Given the description of an element on the screen output the (x, y) to click on. 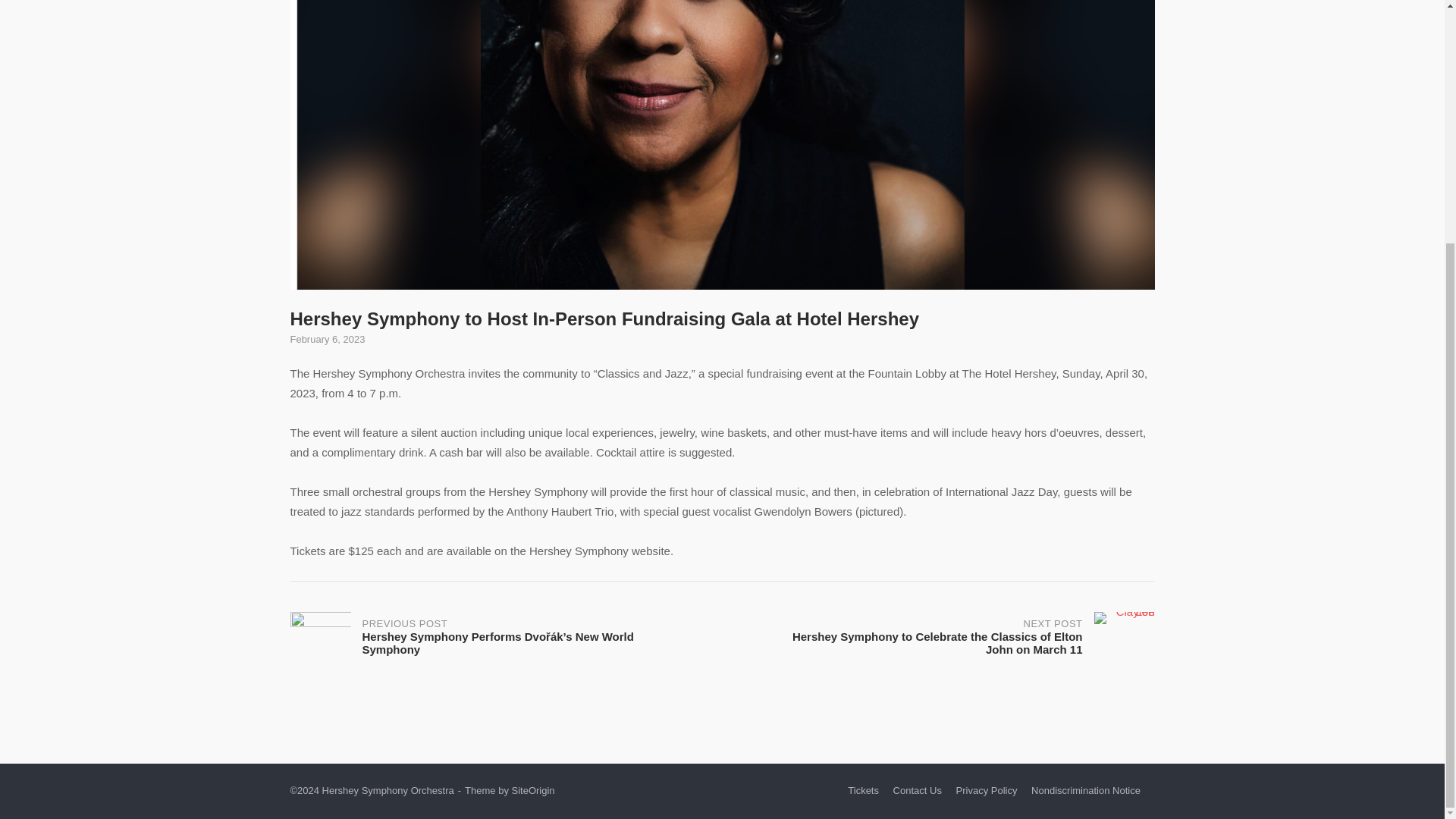
Privacy Policy (986, 790)
Contact Us (917, 790)
SiteOrigin (532, 790)
Tickets (863, 790)
Nondiscrimination Notice (1085, 790)
